Given the description of an element on the screen output the (x, y) to click on. 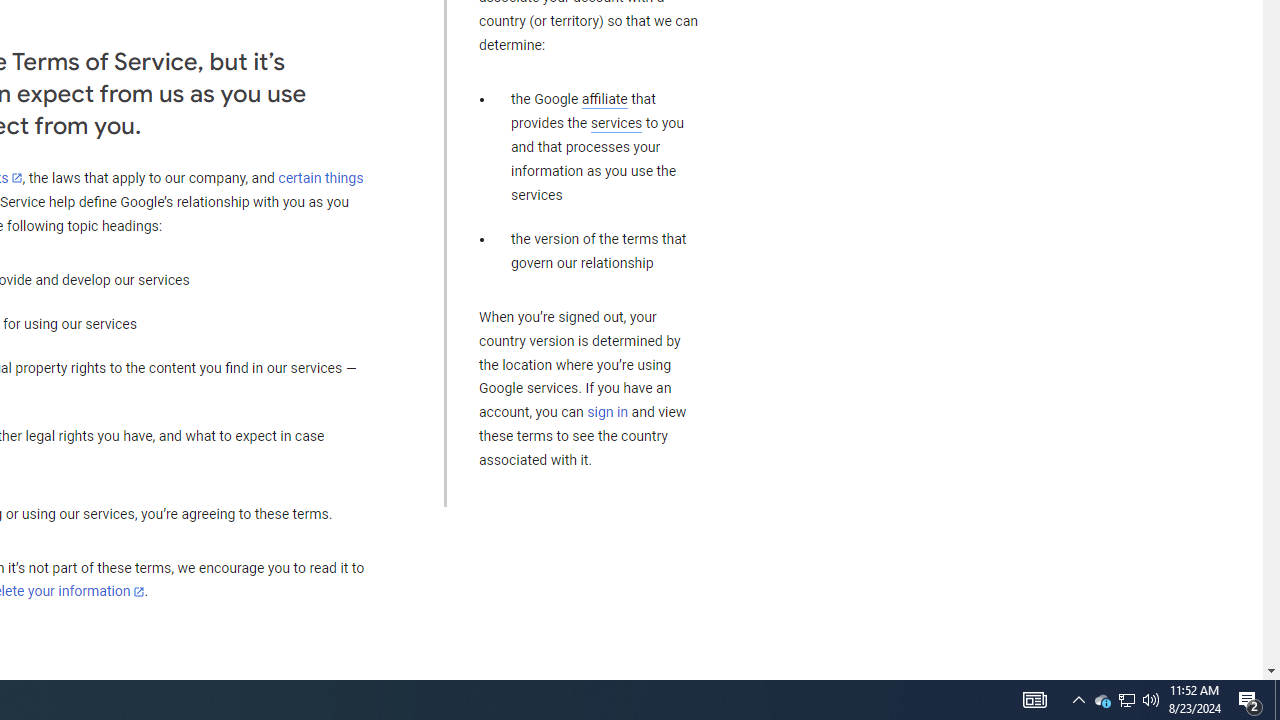
affiliate (604, 99)
sign in (607, 412)
services (616, 123)
